Given the description of an element on the screen output the (x, y) to click on. 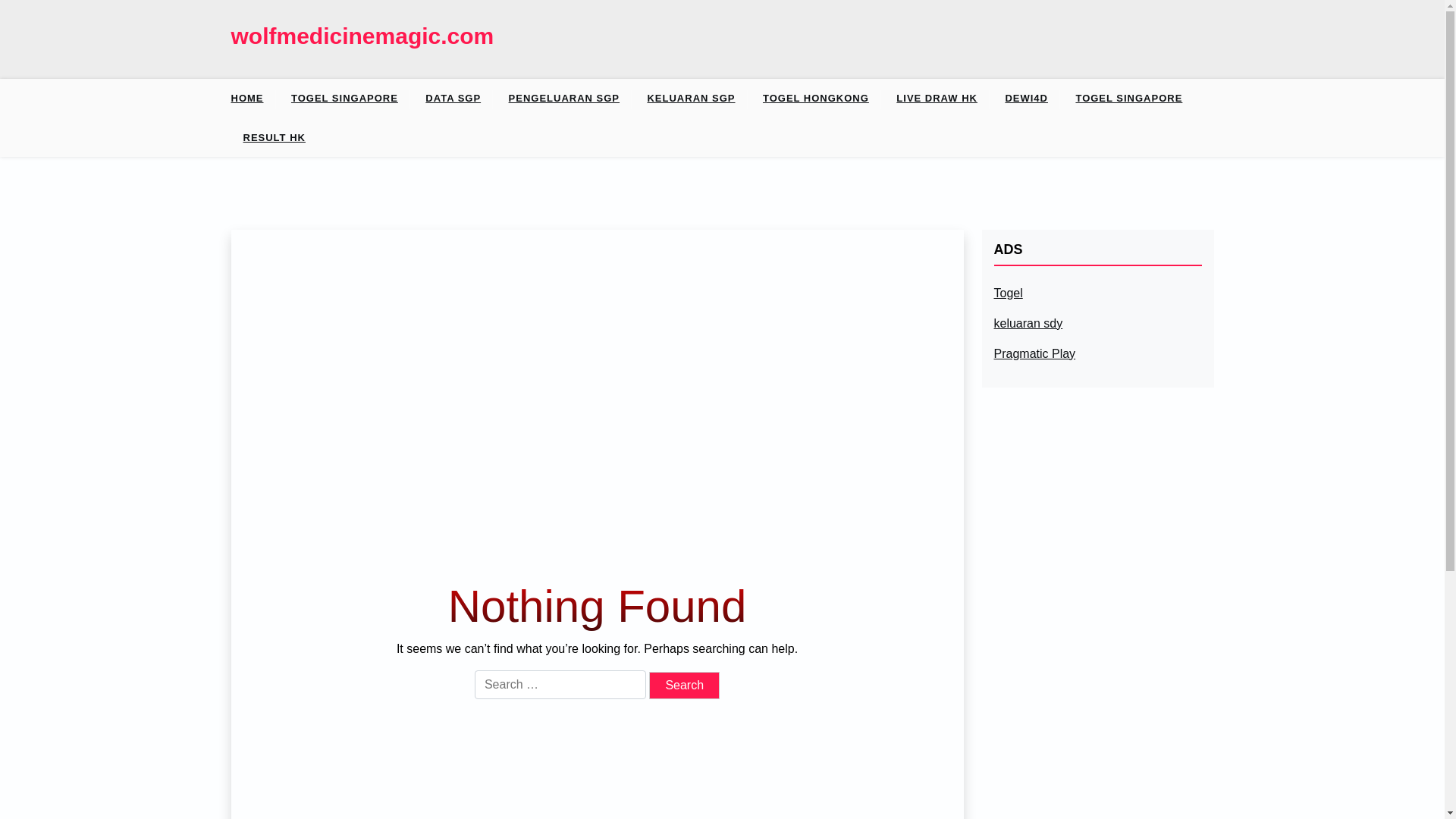
wolfmedicinemagic.com (361, 35)
Search (684, 685)
LIVE DRAW HK (936, 97)
HOME (252, 97)
TOGEL SINGAPORE (1127, 97)
TOGEL SINGAPORE (344, 97)
Search (684, 685)
RESULT HK (273, 137)
Togel (1007, 293)
Search (684, 685)
